Given the description of an element on the screen output the (x, y) to click on. 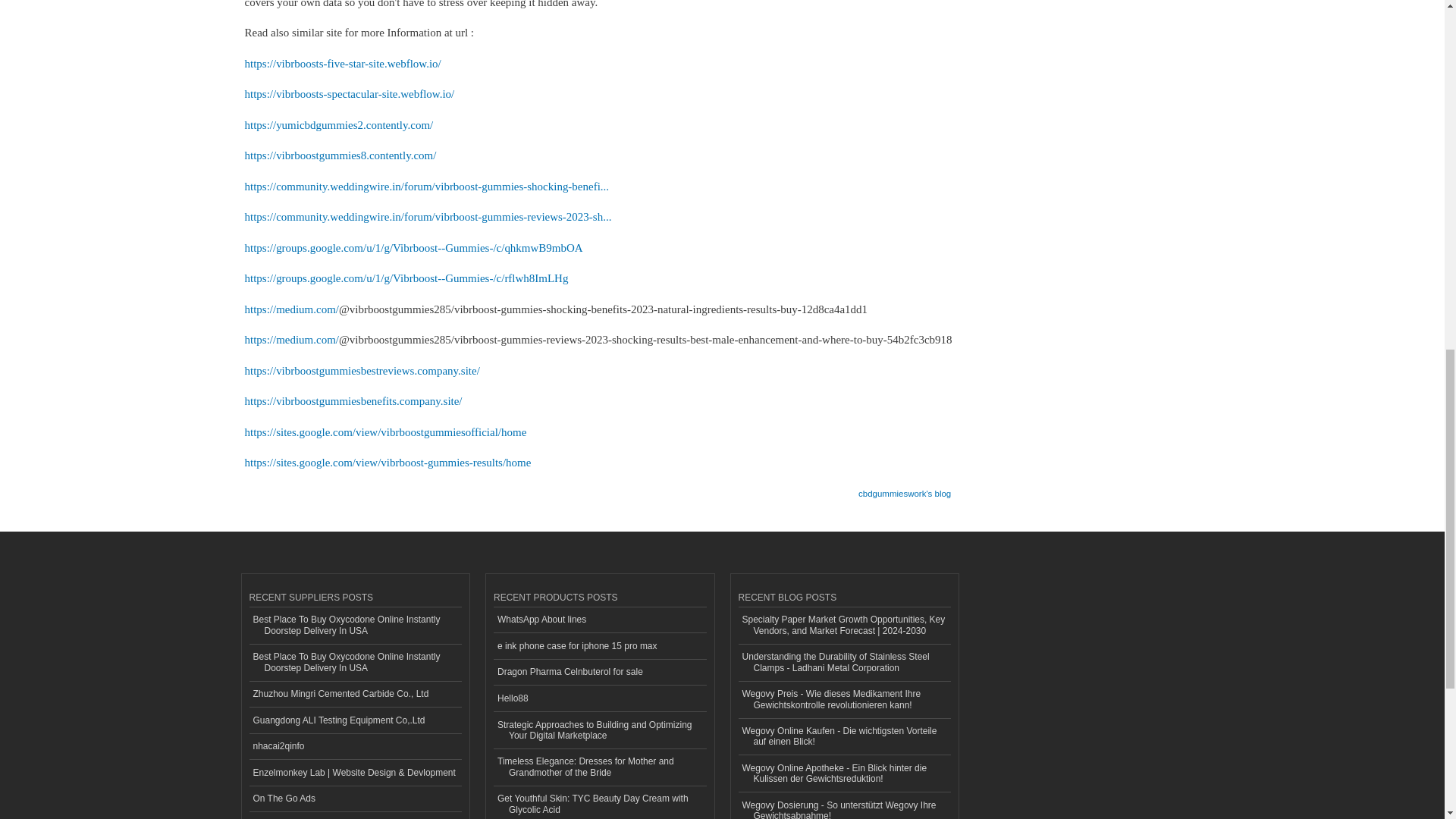
Read cbdgummieswork's latest blog entries. (904, 488)
Guangdong ALI Testing Equipment Co,.Ltd (354, 720)
nhacai2qinfo (354, 746)
Zhuzhou Mingri Cemented Carbide Co., Ltd (354, 694)
cbdgummieswork's blog (904, 488)
